Given the description of an element on the screen output the (x, y) to click on. 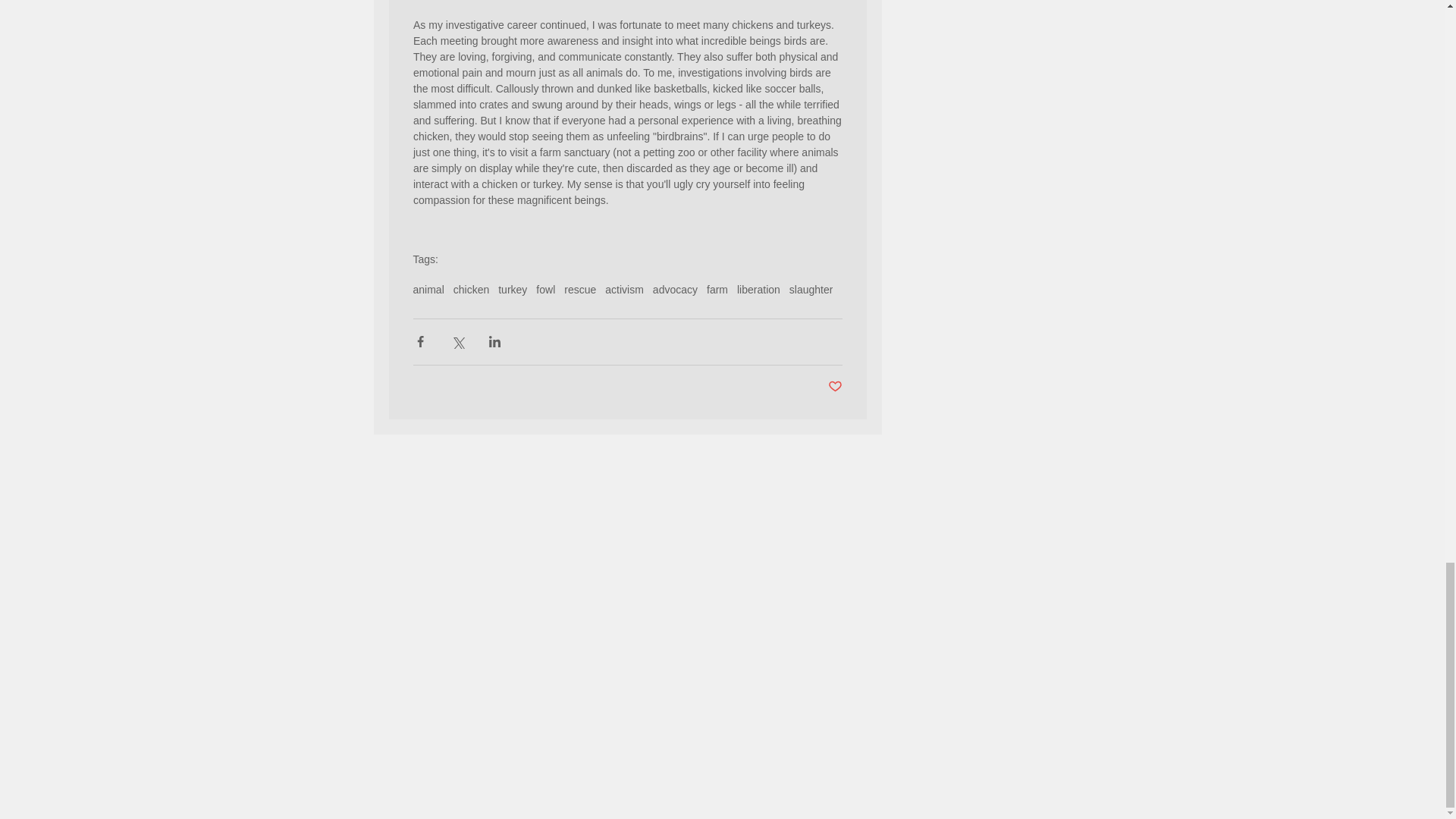
turkey (512, 289)
rescue (579, 289)
slaughter (810, 289)
Post not marked as liked (835, 386)
liberation (758, 289)
farm (717, 289)
activism (624, 289)
animal (428, 289)
chicken (470, 289)
fowl (544, 289)
